Given the description of an element on the screen output the (x, y) to click on. 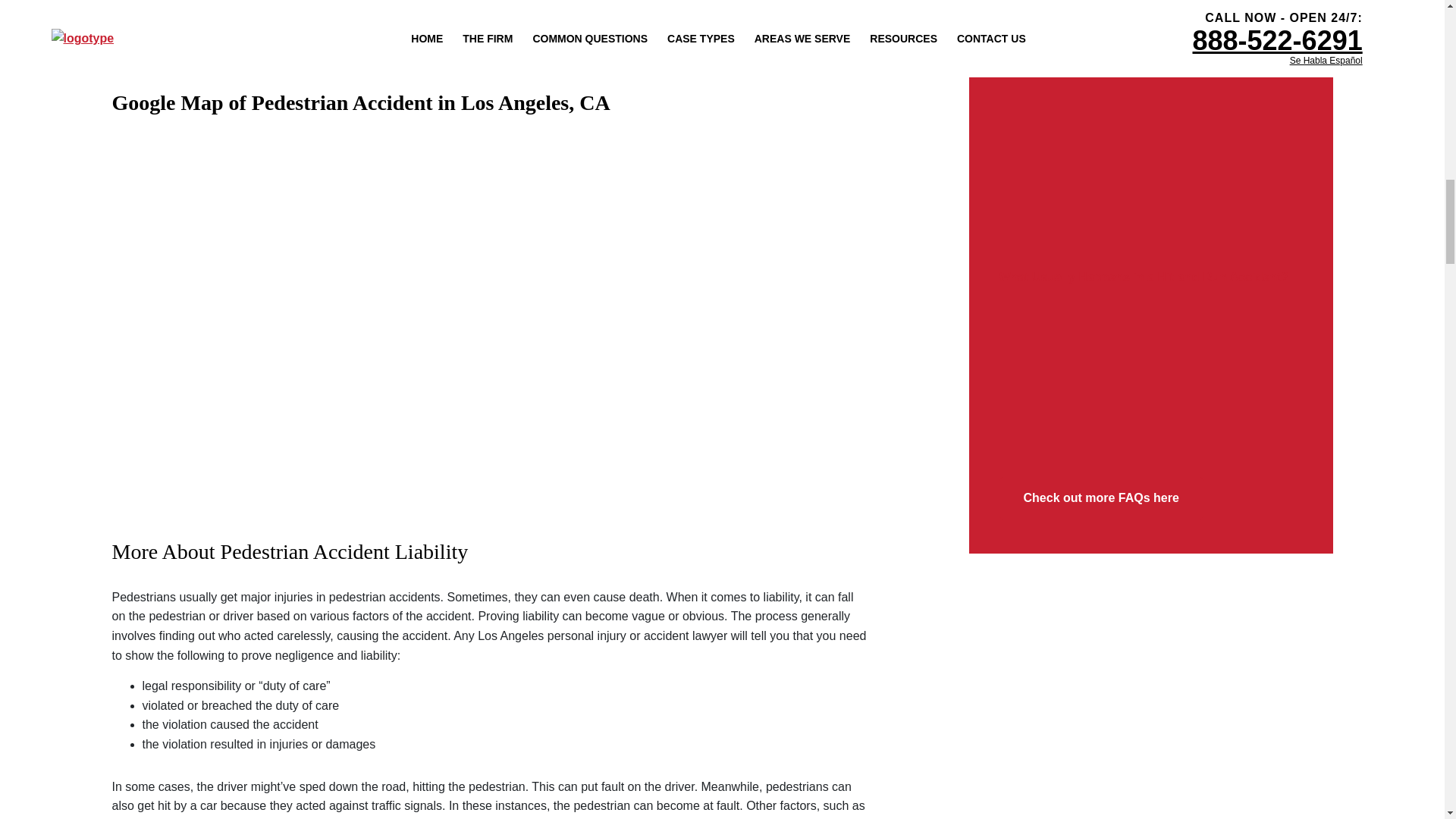
What Usually Happens in a Hit-and-Run Accident? (1150, 366)
